Given the description of an element on the screen output the (x, y) to click on. 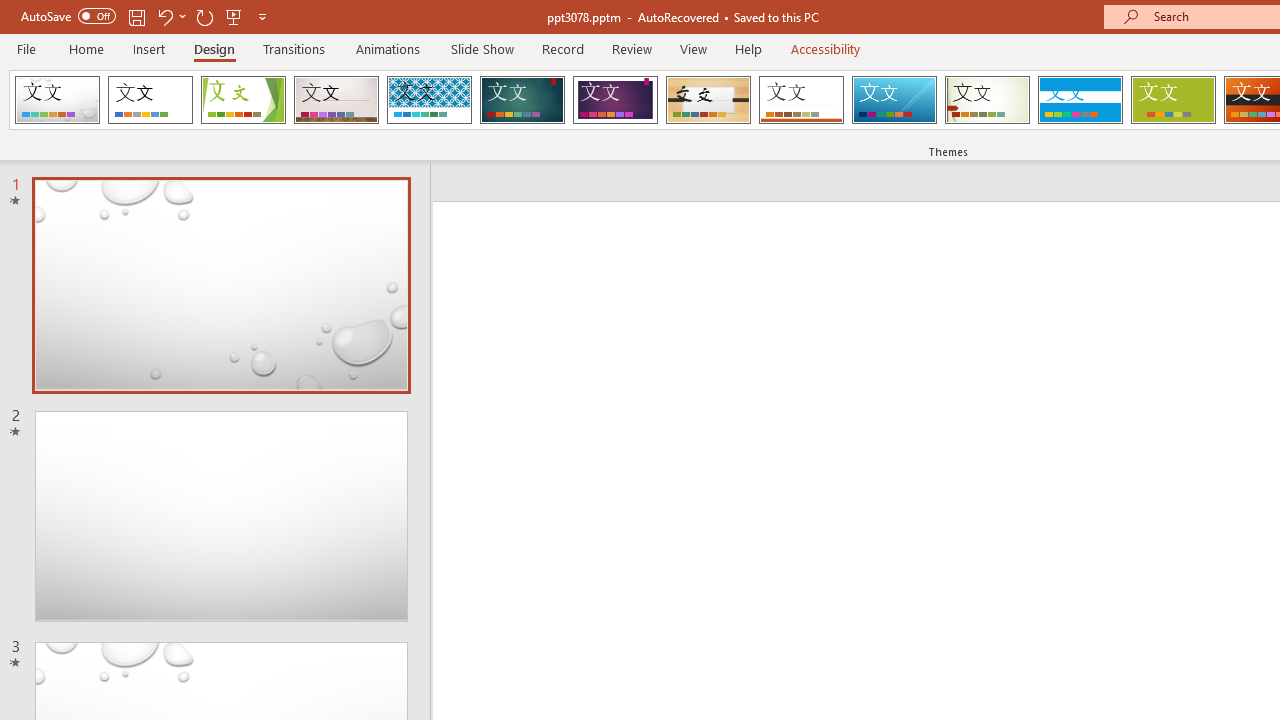
Slice (893, 100)
Gallery (336, 100)
Ion (522, 100)
Retrospect (801, 100)
Basis (1172, 100)
Organic (708, 100)
